Given the description of an element on the screen output the (x, y) to click on. 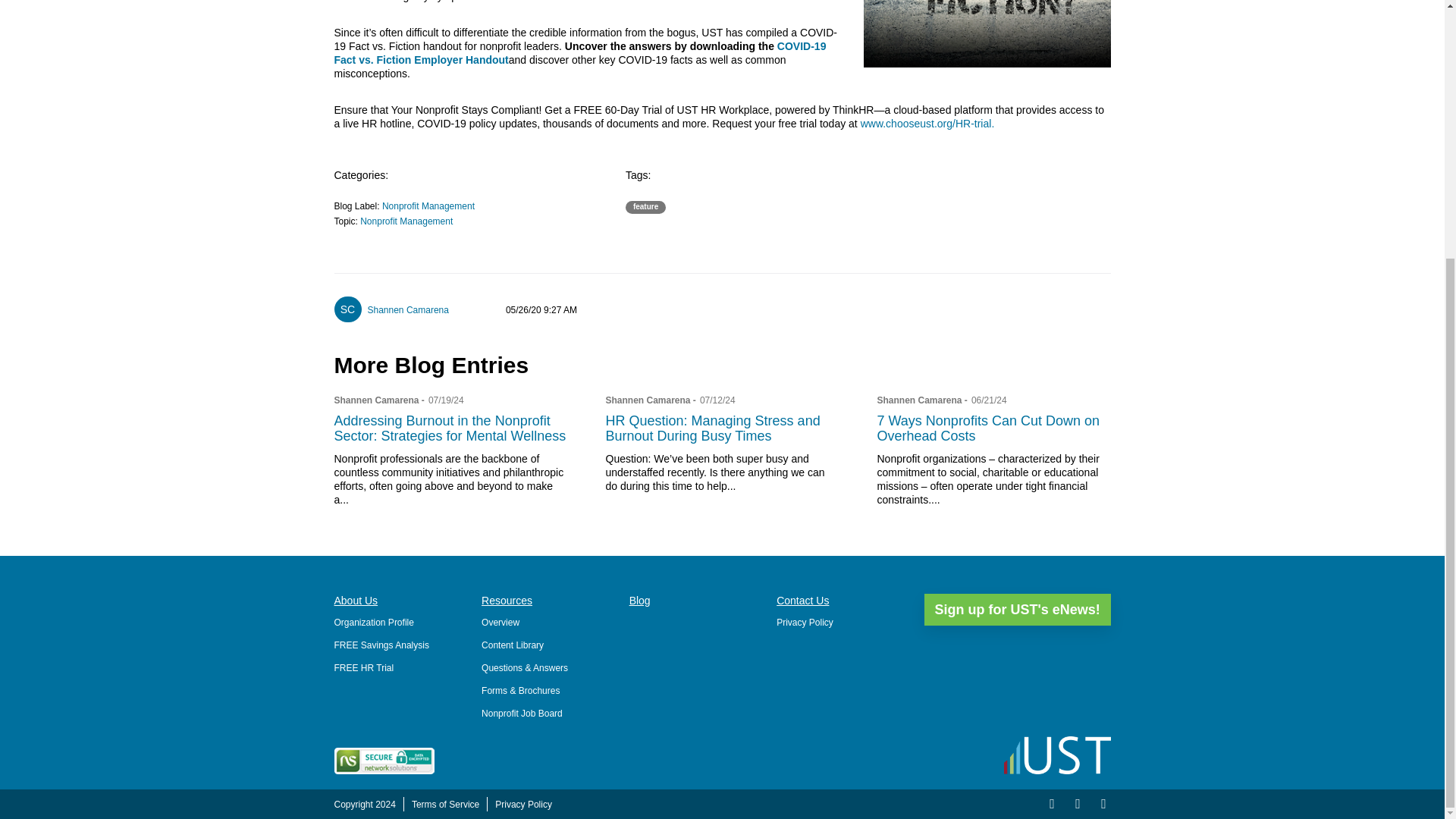
network-solutions (383, 760)
